Given the description of an element on the screen output the (x, y) to click on. 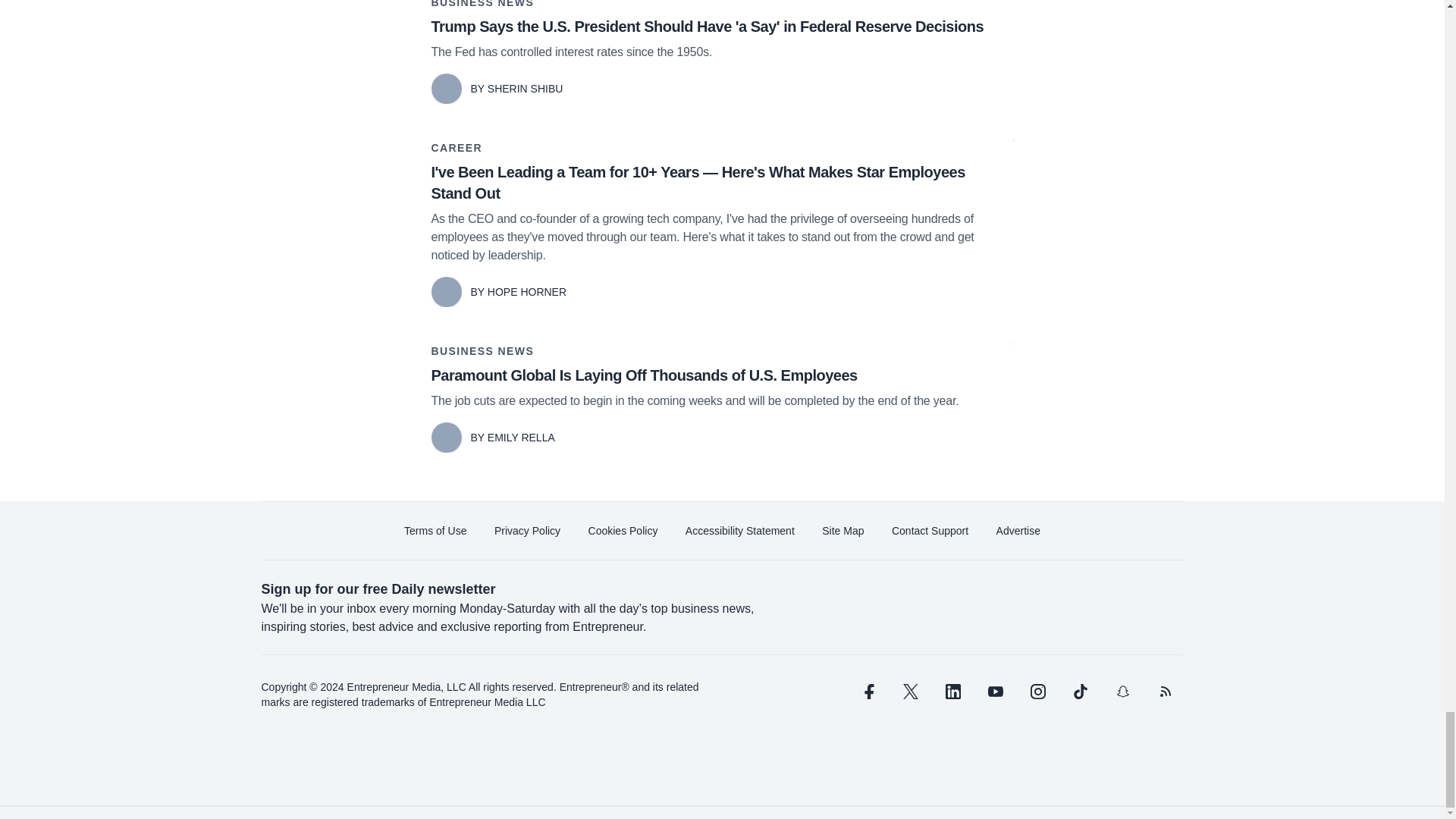
snapchat (1121, 691)
linkedin (952, 691)
youtube (994, 691)
twitter (909, 691)
tiktok (1079, 691)
facebook (866, 691)
instagram (1037, 691)
